Given the description of an element on the screen output the (x, y) to click on. 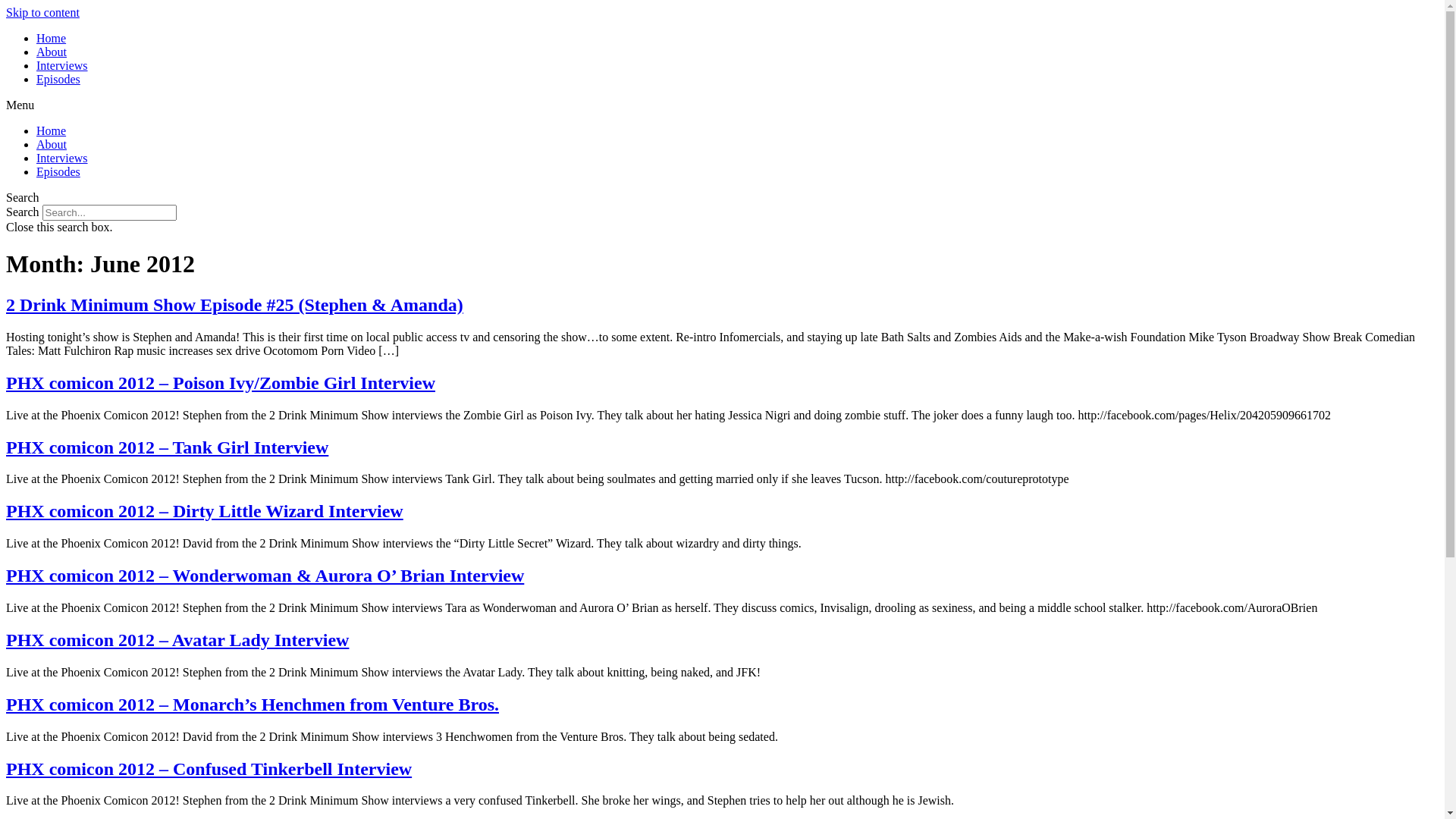
Skip to content Element type: text (42, 12)
Interviews Element type: text (61, 65)
Home Element type: text (50, 37)
About Element type: text (51, 51)
2 Drink Minimum Show Episode #25 (Stephen & Amanda) Element type: text (234, 304)
About Element type: text (51, 144)
Home Element type: text (50, 130)
Episodes Element type: text (58, 78)
Episodes Element type: text (58, 171)
Interviews Element type: text (61, 157)
